Given the description of an element on the screen output the (x, y) to click on. 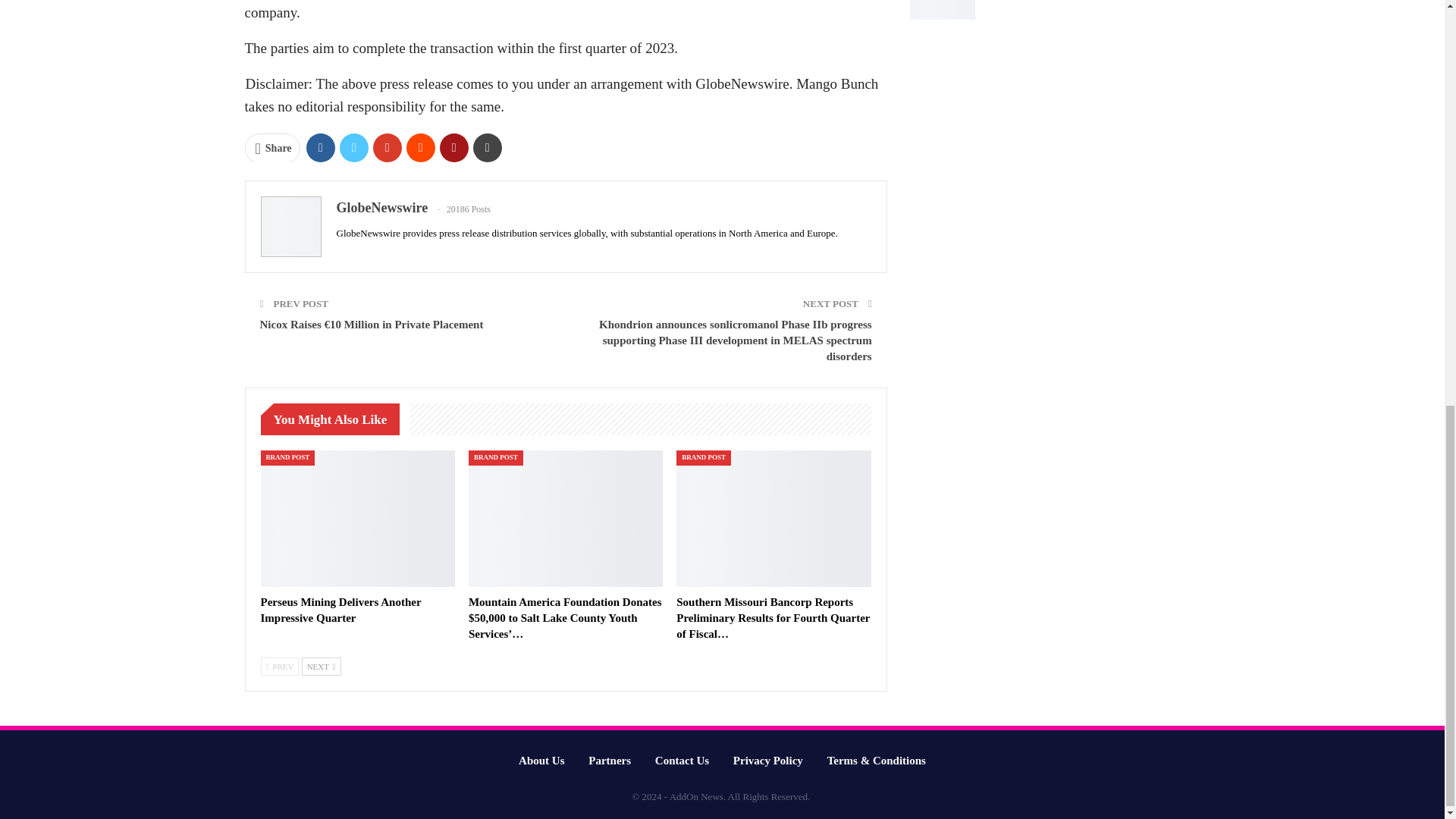
GlobeNewswire (382, 207)
BRAND POST (287, 457)
You Might Also Like (334, 419)
Perseus Mining Delivers Another Impressive Quarter (357, 518)
Previous (279, 666)
Perseus Mining Delivers Another Impressive Quarter (341, 610)
BRAND POST (495, 457)
Perseus Mining Delivers Another Impressive Quarter (341, 610)
Next (320, 666)
